Given the description of an element on the screen output the (x, y) to click on. 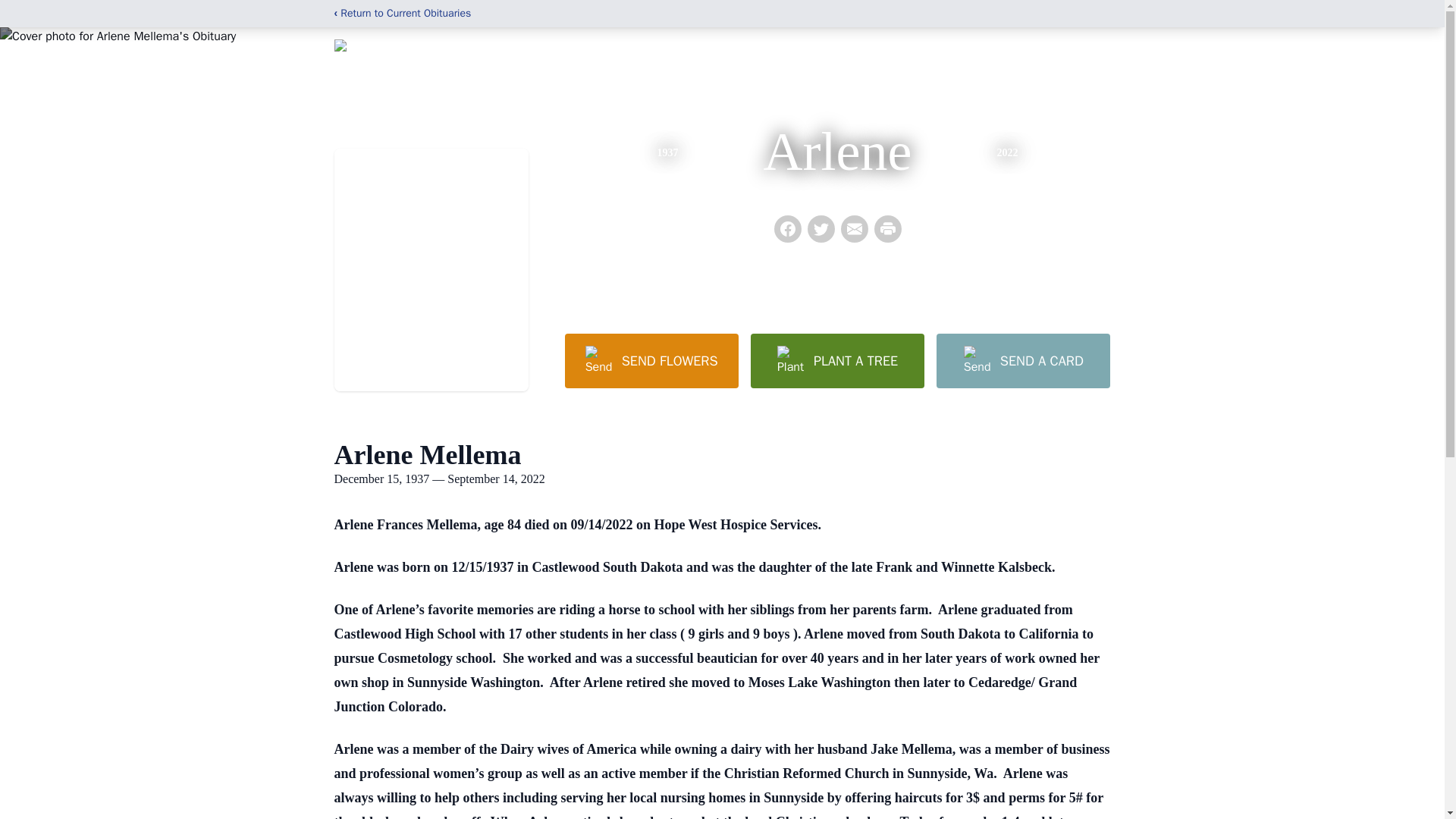
SEND FLOWERS (651, 360)
PLANT A TREE (837, 360)
SEND A CARD (1022, 360)
